Given the description of an element on the screen output the (x, y) to click on. 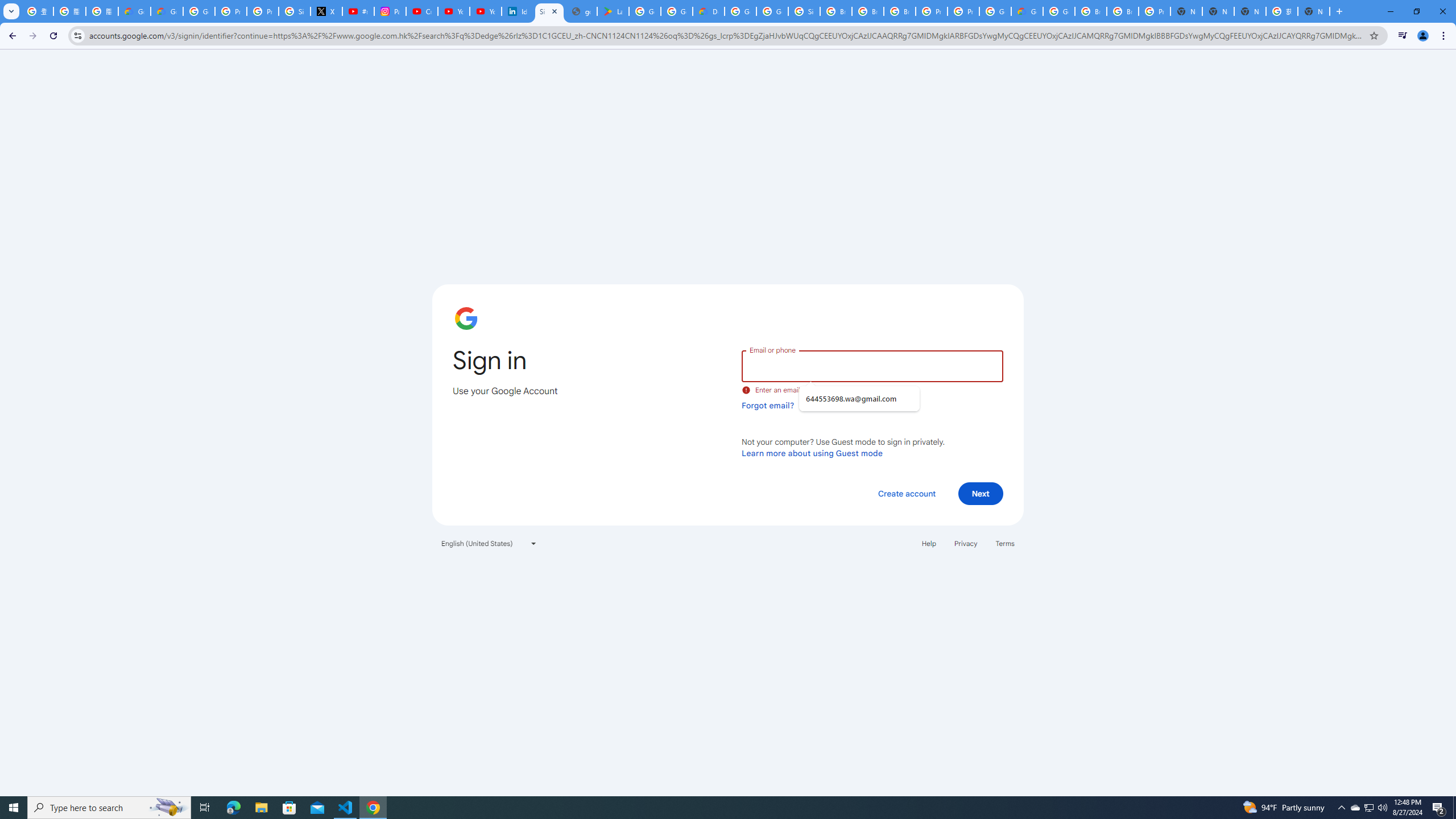
Browse Chrome as a guest - Computer - Google Chrome Help (836, 11)
Learn more about using Guest mode (812, 452)
Privacy Help Center - Policies Help (230, 11)
Sign in - Google Accounts (549, 11)
New Tab (1313, 11)
Last Shelter: Survival - Apps on Google Play (613, 11)
Google Cloud Privacy Notice (134, 11)
